Given the description of an element on the screen output the (x, y) to click on. 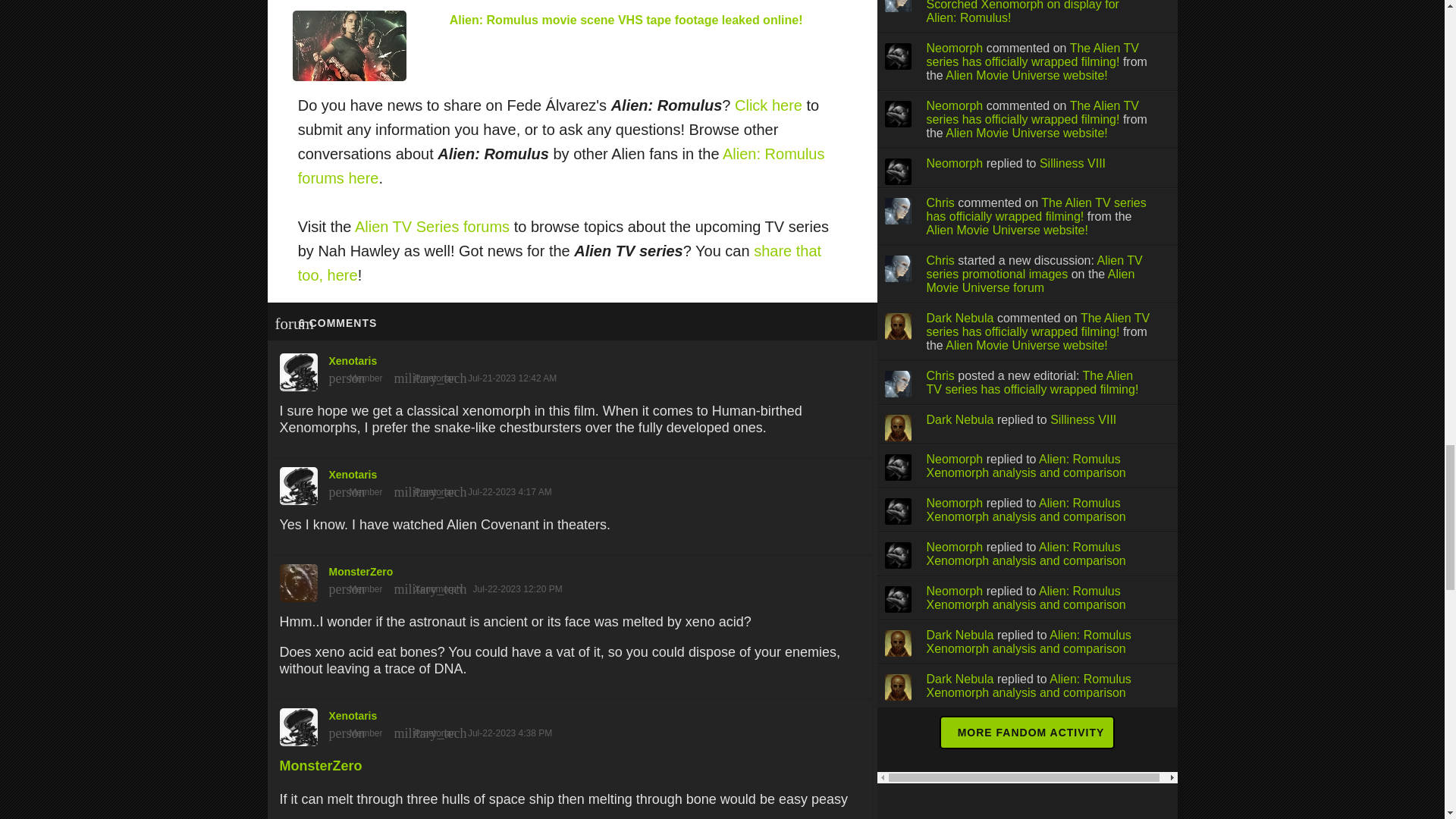
MonsterZero (320, 765)
MonsterZero (571, 579)
Alien: Romulus forums here (561, 165)
Xenotaris (571, 481)
Click here (768, 105)
Alien: Romulus movie scene VHS tape footage leaked online! (626, 19)
Xenotaris (571, 368)
Xenotaris (571, 723)
Alien TV Series forums (432, 226)
share that too, here (559, 262)
